Given the description of an element on the screen output the (x, y) to click on. 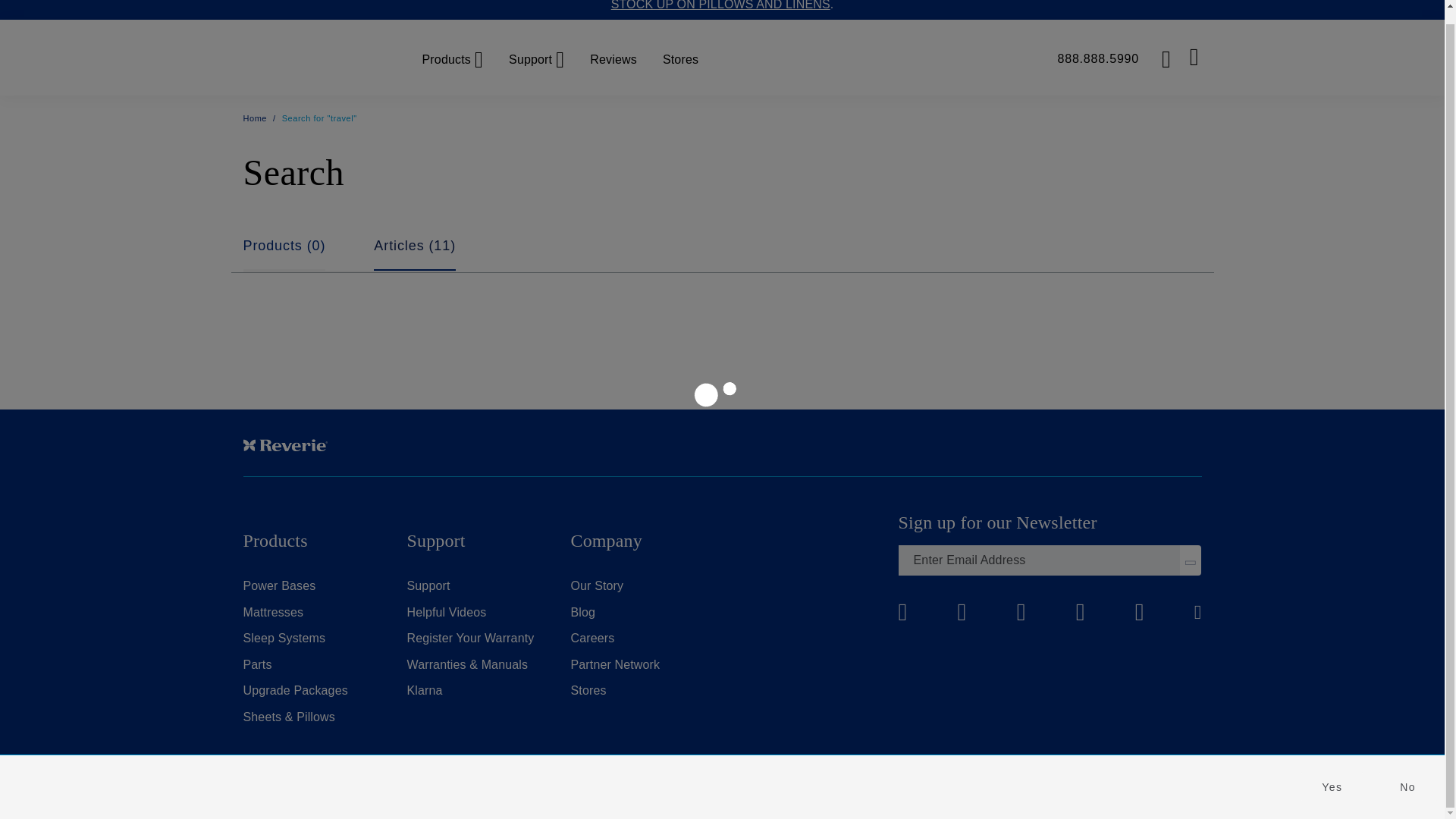
Stock up on Pillows and Linens (722, 5)
Reverie - US (314, 57)
Go to Support (427, 585)
Go to Partner Network (614, 664)
Go to Register Your Warranty (470, 637)
Go to Sleep Systems (283, 637)
Reviews (612, 57)
Products (451, 57)
Go to Parts (256, 664)
Go to Helpful Videos (446, 612)
Go to Klarna (424, 689)
Support (535, 57)
Go to Stores (587, 689)
Go to Mattresses (272, 612)
Go to Our Story (596, 585)
